Given the description of an element on the screen output the (x, y) to click on. 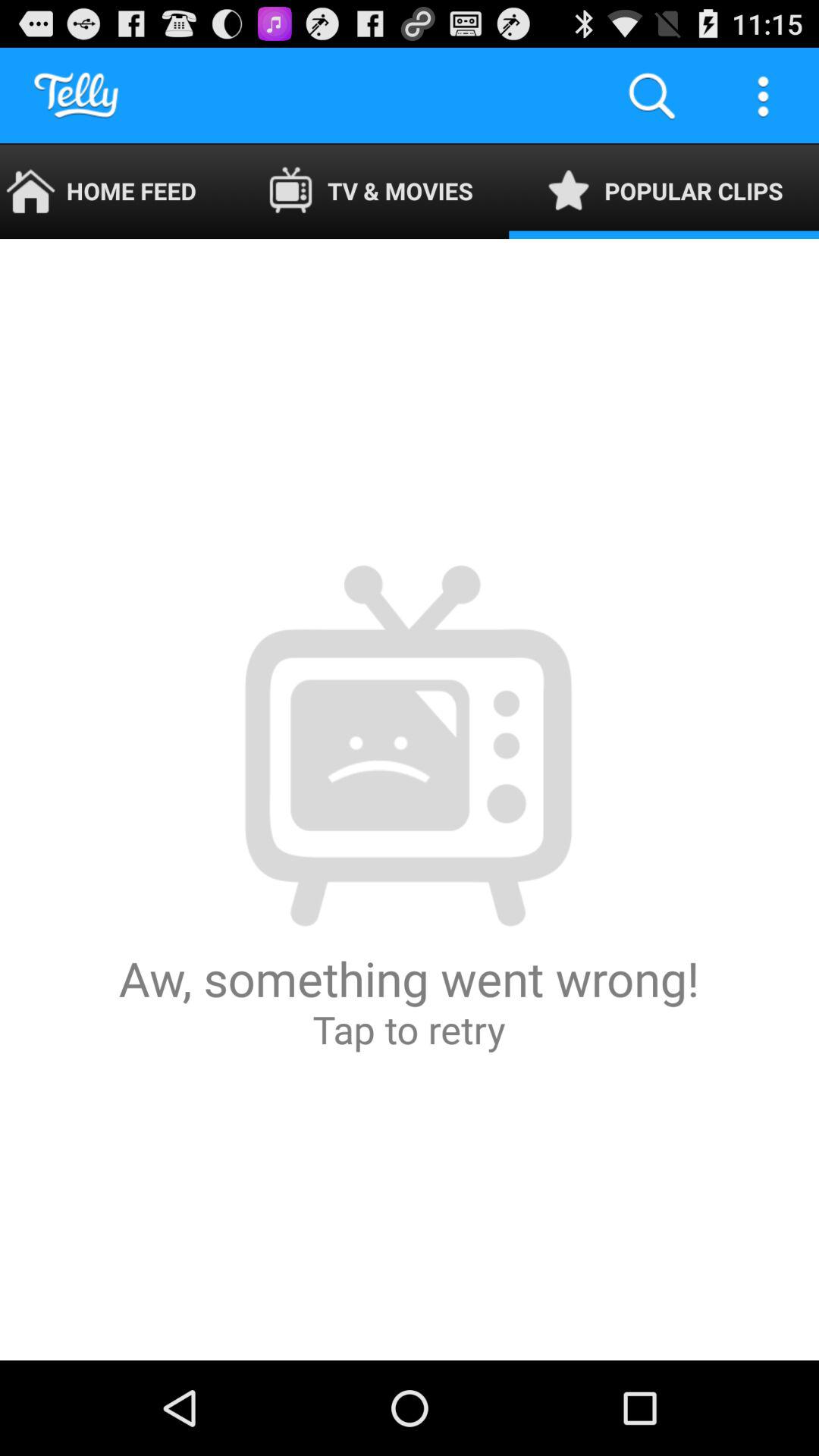
turn off the popular clips app (664, 190)
